Given the description of an element on the screen output the (x, y) to click on. 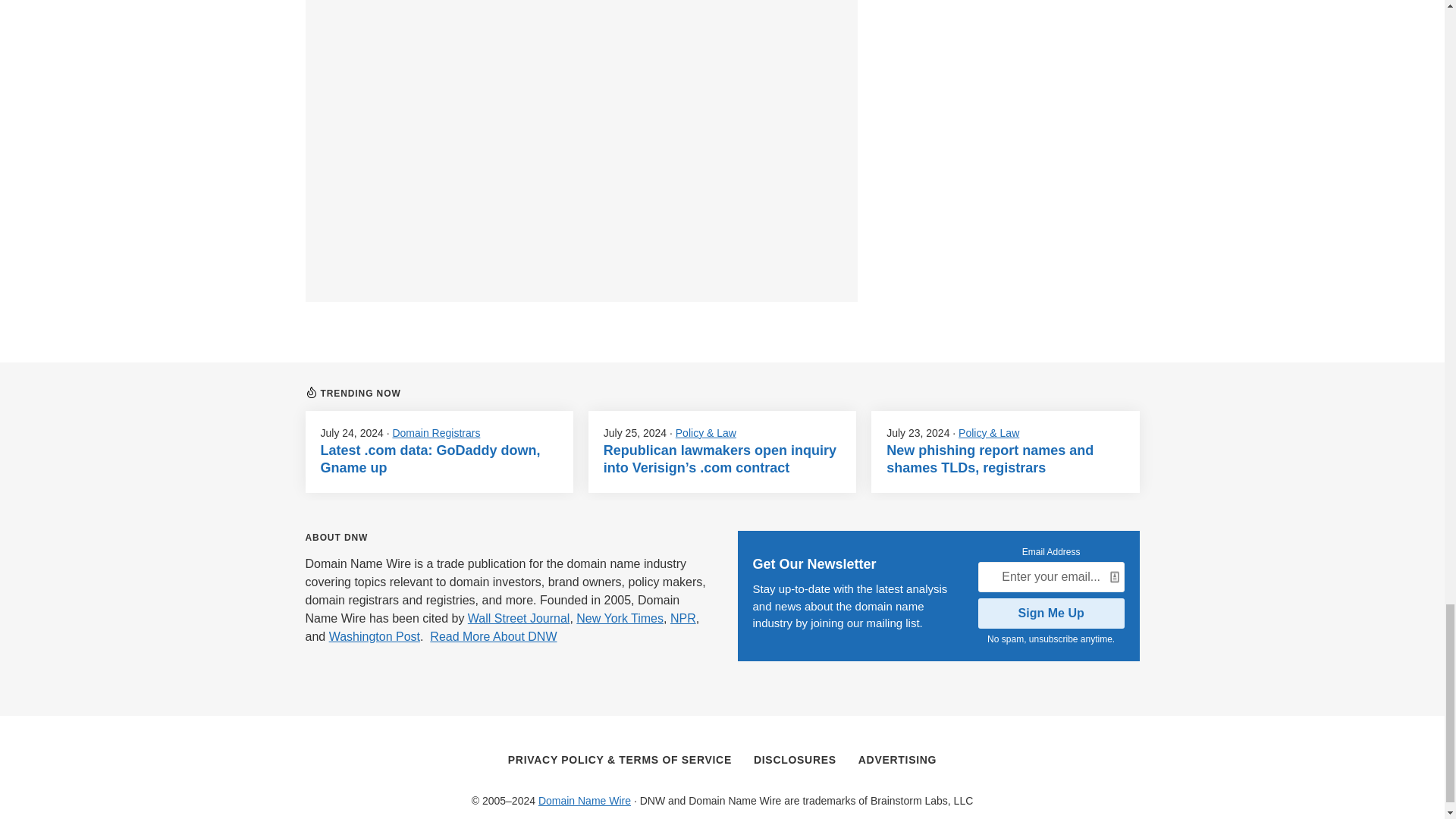
Sign Me Up (1051, 613)
